Given the description of an element on the screen output the (x, y) to click on. 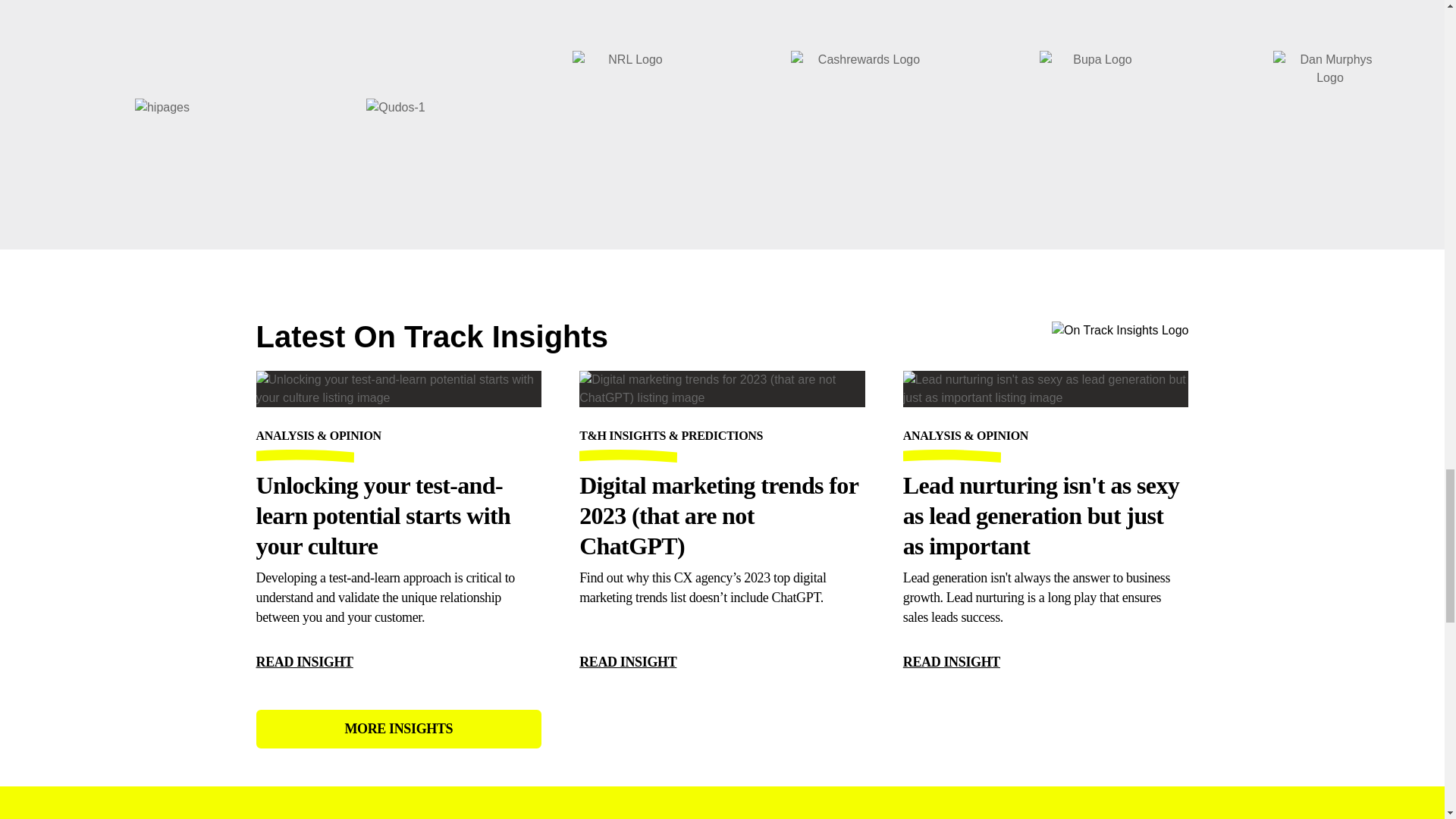
MORE INSIGHTS (398, 729)
READ INSIGHT (951, 661)
READ INSIGHT (628, 661)
READ INSIGHT (304, 661)
